Given the description of an element on the screen output the (x, y) to click on. 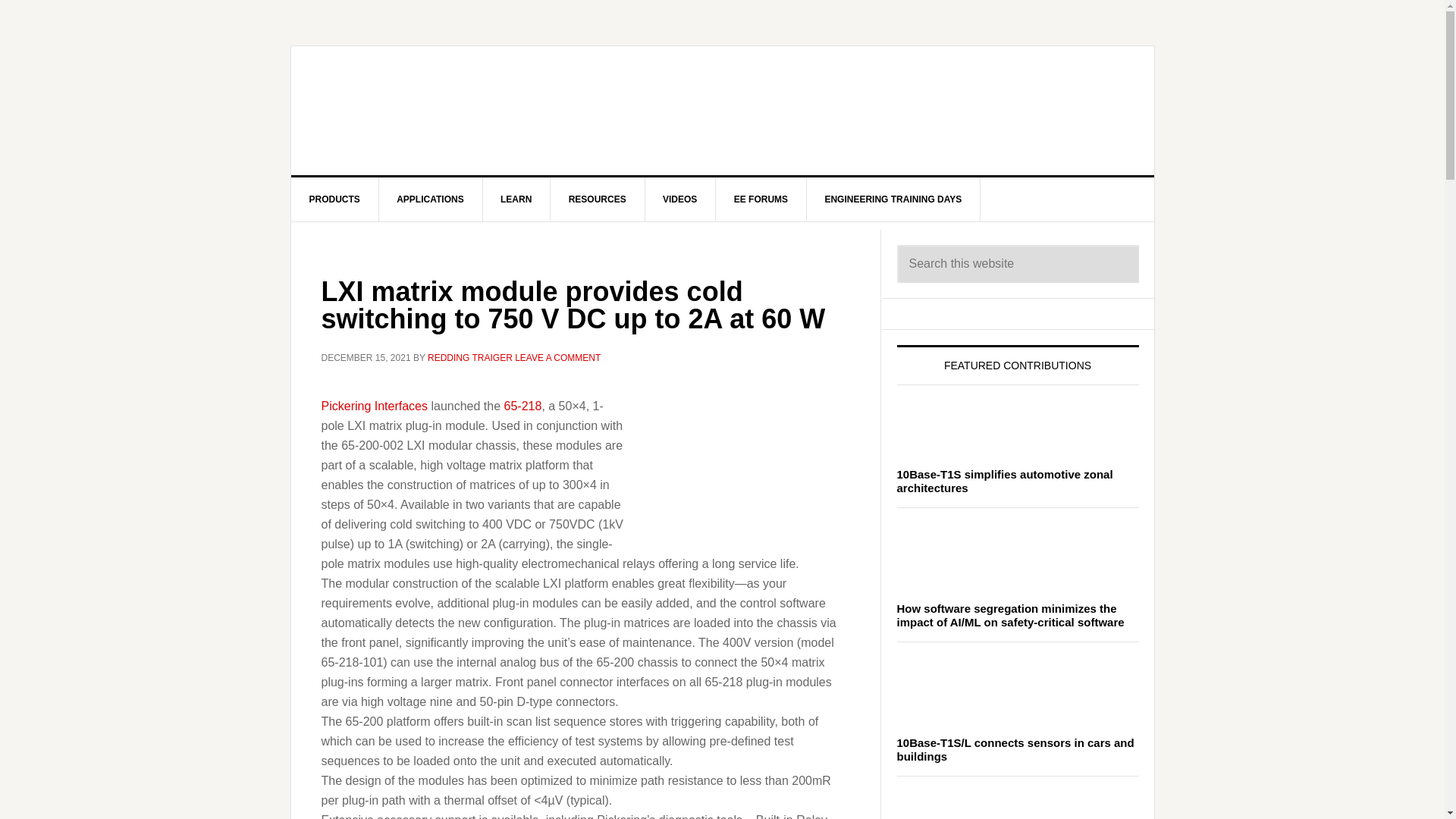
RESOURCES (597, 199)
LEARN (515, 199)
VIDEOS (680, 199)
APPLICATIONS (429, 199)
PRODUCTS (334, 199)
MICROCONTROLLER TIPS (419, 110)
EE FORUMS (761, 199)
